Given the description of an element on the screen output the (x, y) to click on. 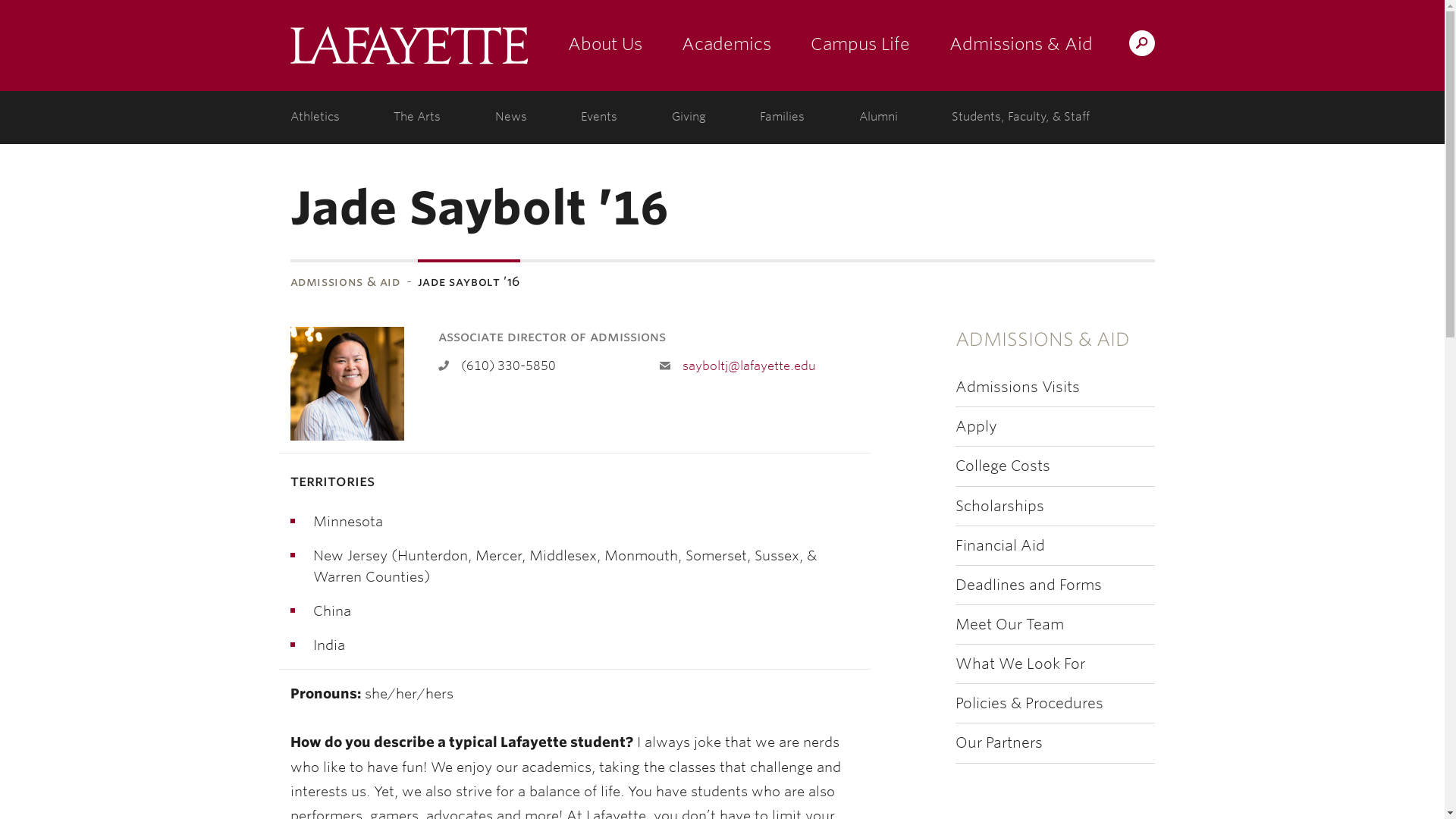
Search Lafayette.edu (1141, 43)
Academics (725, 45)
About Us (603, 45)
Search (842, 42)
Campus Life (859, 45)
Lafayette College (408, 45)
